Given the description of an element on the screen output the (x, y) to click on. 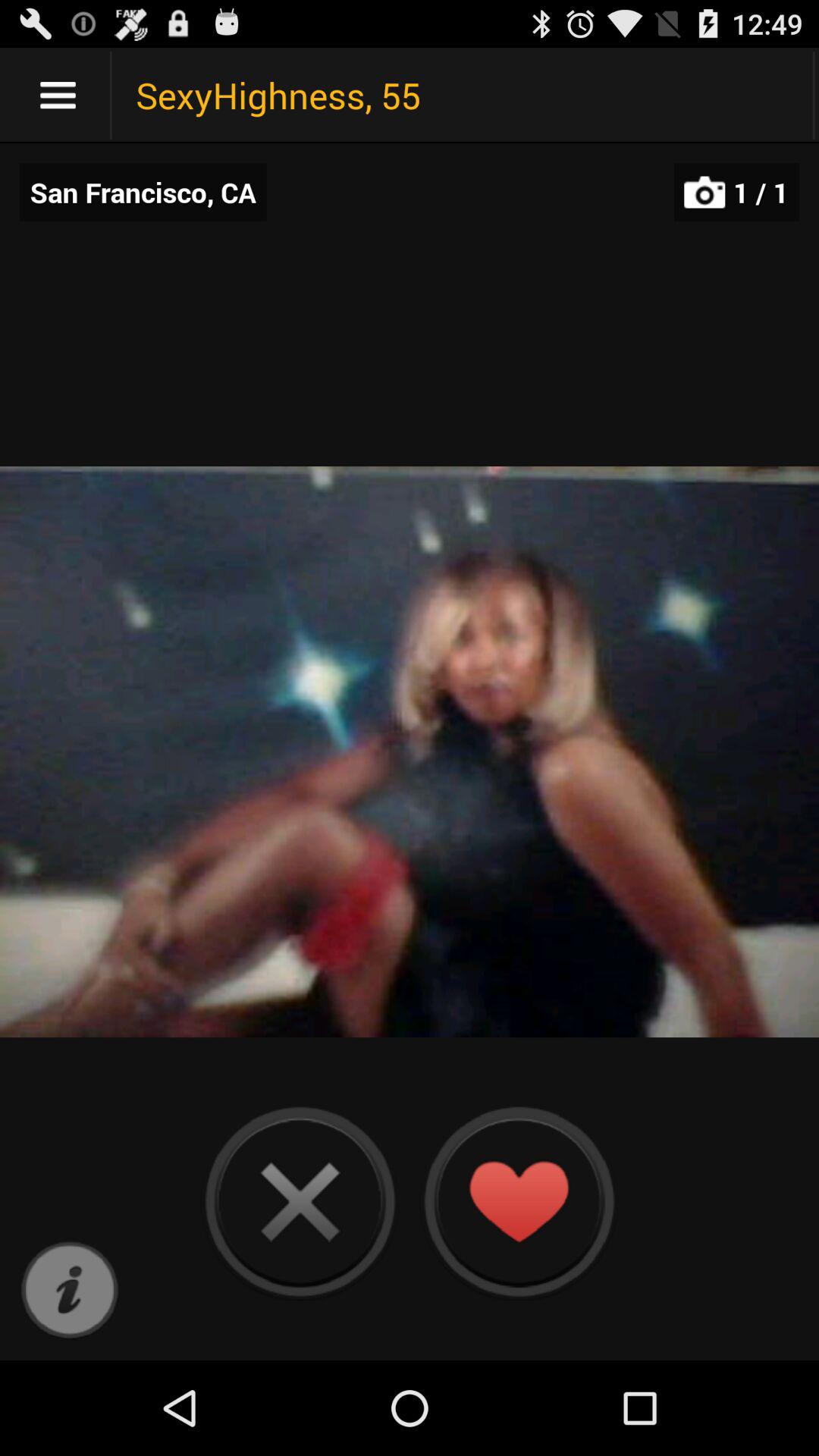
choose to move to the next person (299, 1200)
